Given the description of an element on the screen output the (x, y) to click on. 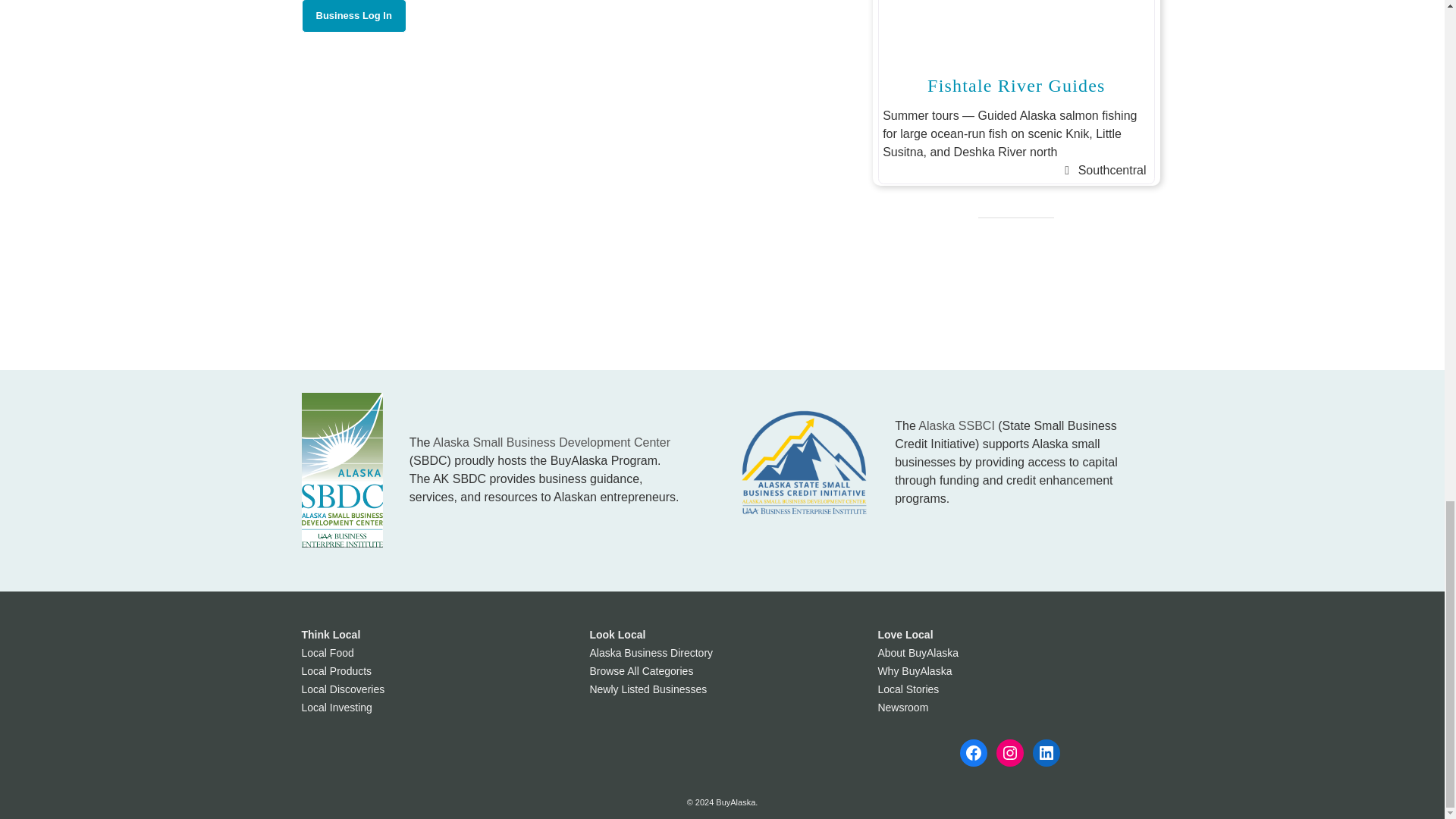
View: Fishtale River Guides (1016, 85)
